Given the description of an element on the screen output the (x, y) to click on. 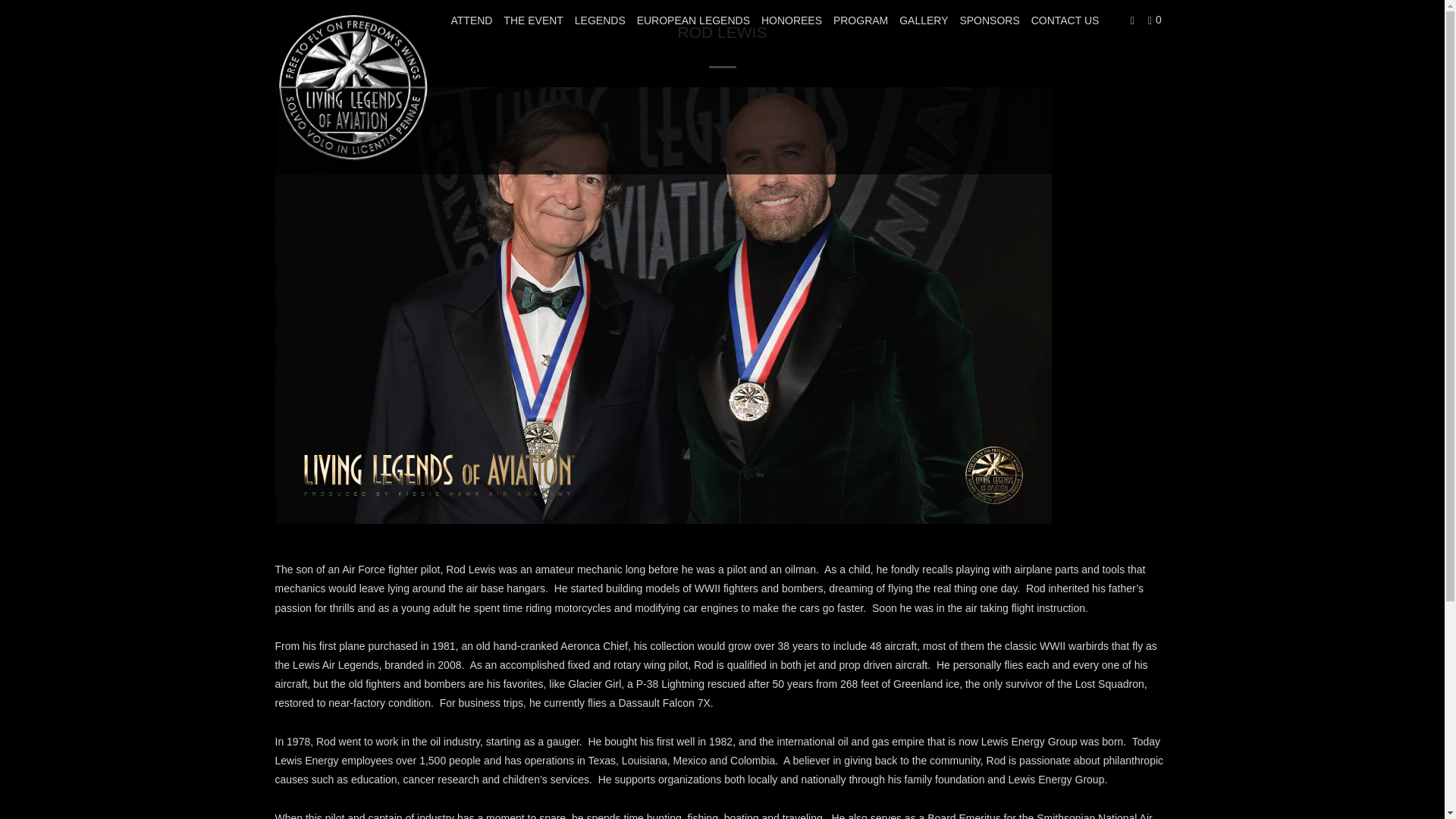
HONOREES (791, 20)
Search (1133, 20)
Living Legends of Aviation (352, 87)
GALLERY (923, 20)
SPONSORS (989, 20)
CONTACT US (1064, 20)
0 (1155, 20)
ATTEND (470, 20)
LEGENDS (600, 20)
EUROPEAN LEGENDS (692, 20)
THE EVENT (533, 20)
PROGRAM (860, 20)
